Given the description of an element on the screen output the (x, y) to click on. 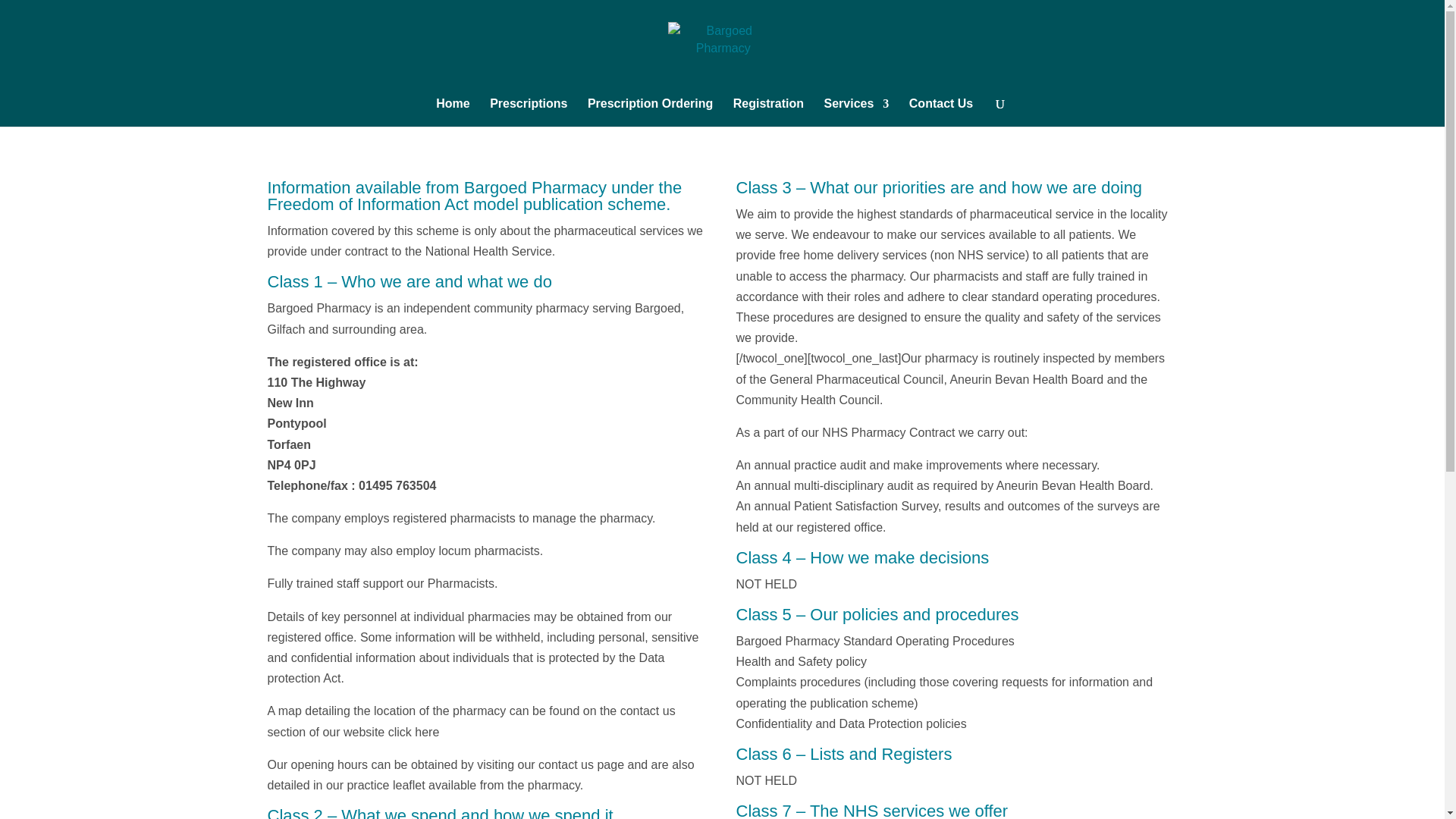
Prescriptions (528, 112)
Home (451, 112)
Prescription Ordering (650, 112)
Registration (768, 112)
Services (856, 112)
Contact Us (940, 112)
